Given the description of an element on the screen output the (x, y) to click on. 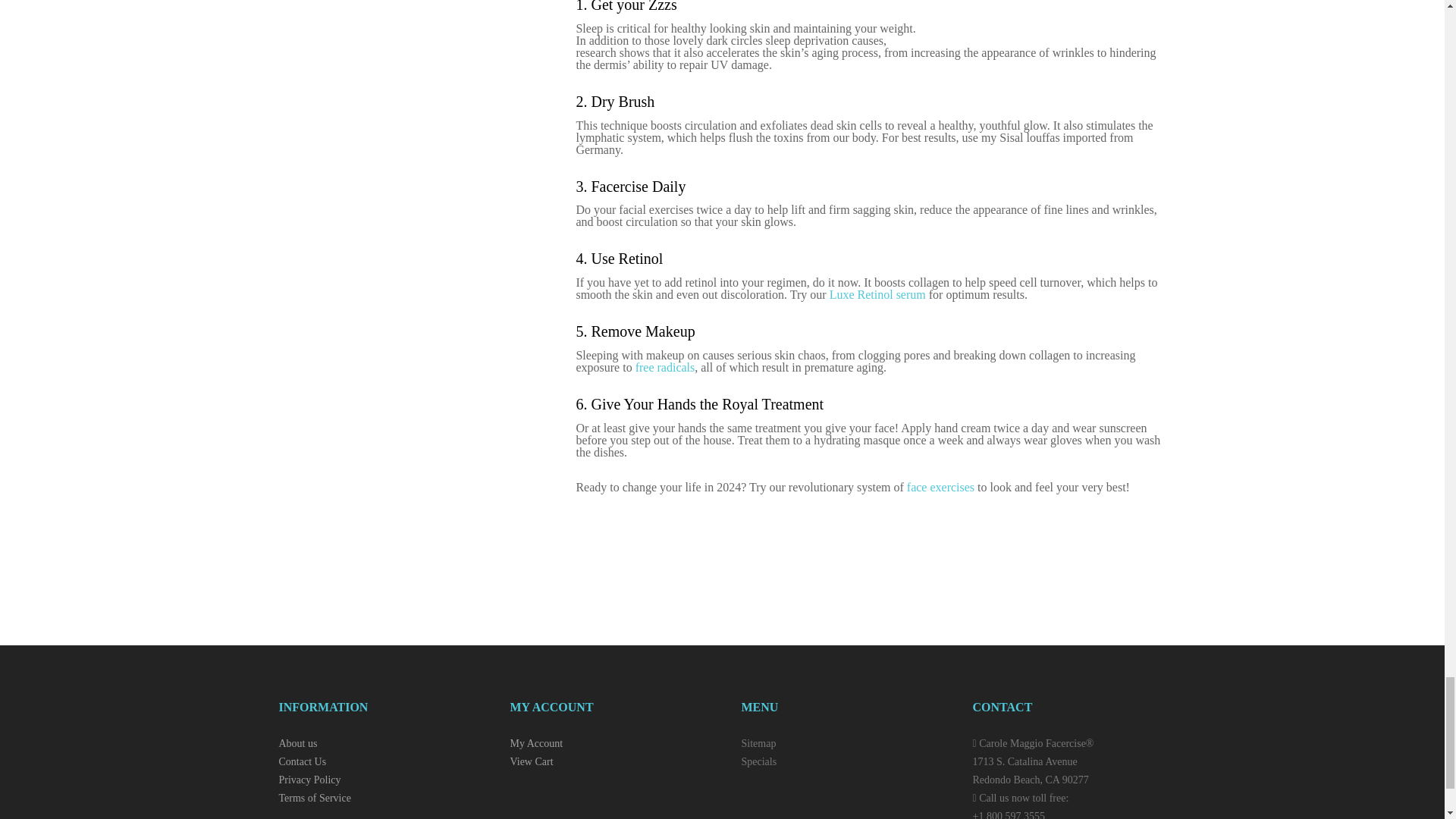
free radicals (664, 367)
